Given the description of an element on the screen output the (x, y) to click on. 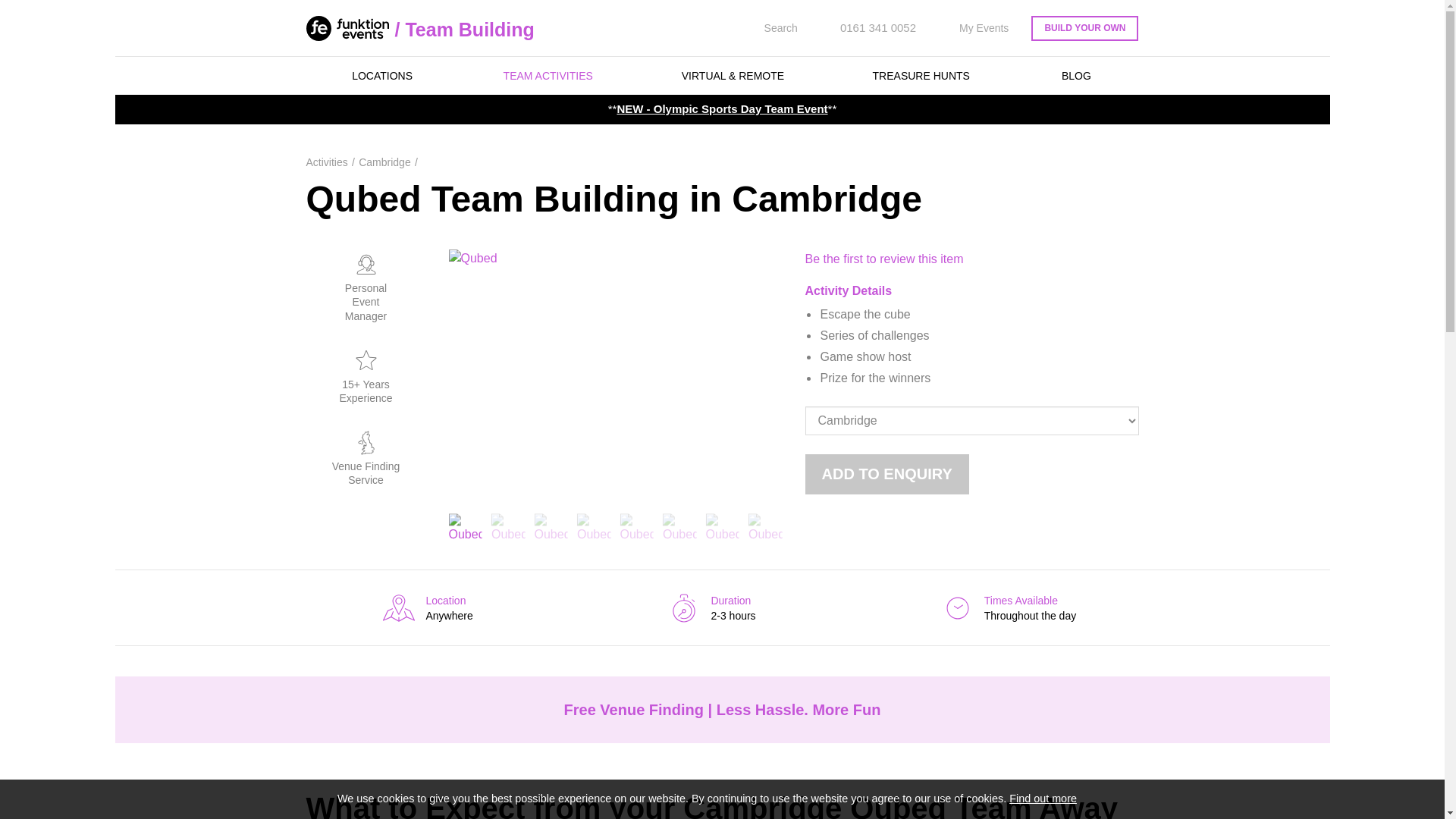
Qubed Activity (550, 525)
Qubed (465, 525)
Add to enquiry (887, 474)
Qubed Events (637, 525)
My Events (974, 28)
Qubed Experiences (722, 525)
Qubed Team Building (765, 525)
Qubed Experience (679, 525)
Qubed Activitiesjpg (507, 525)
Qubed Event (593, 525)
